Given the description of an element on the screen output the (x, y) to click on. 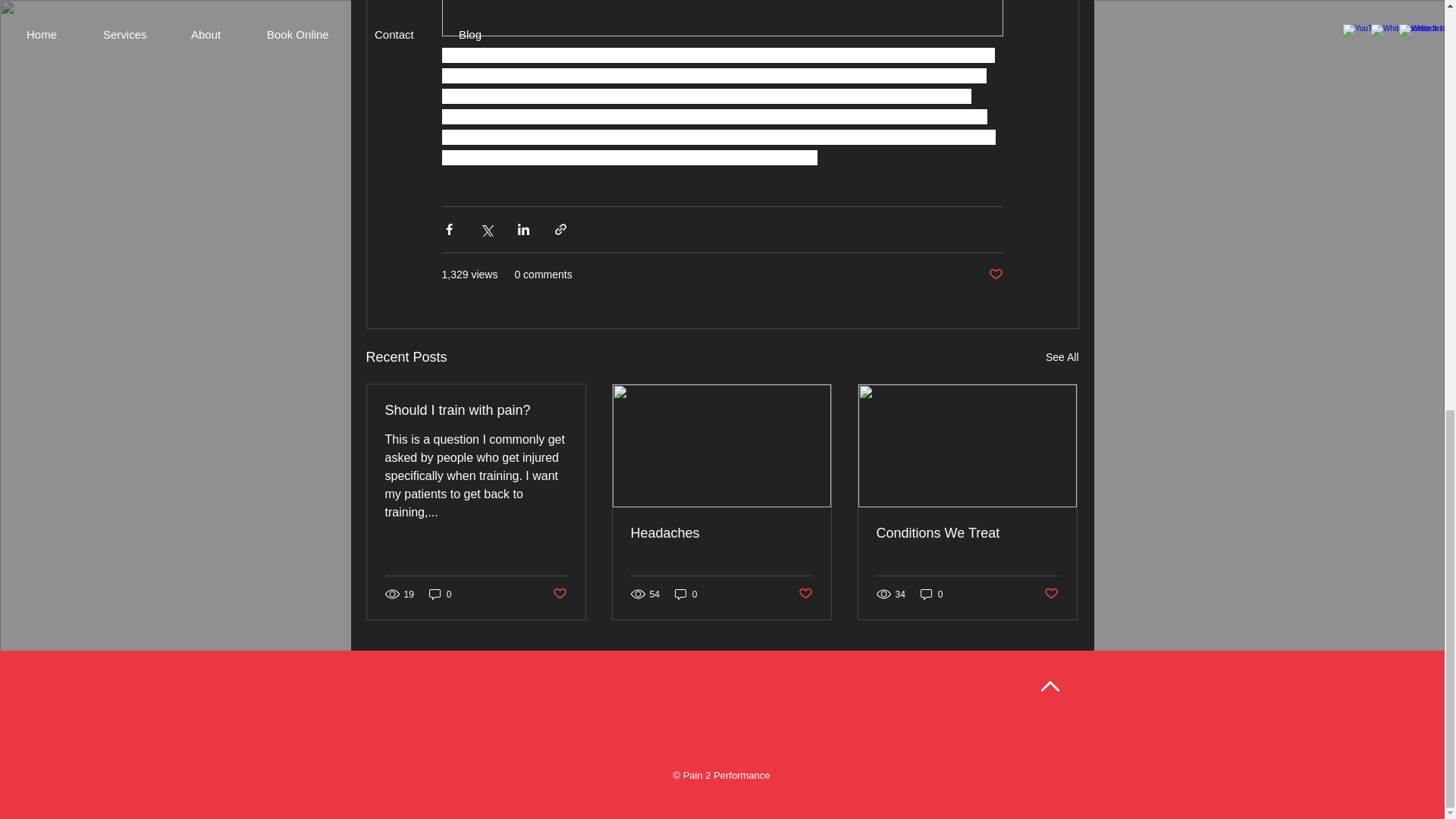
See All (1061, 357)
Headaches (721, 533)
0 (931, 594)
Post not marked as liked (804, 593)
Conditions We Treat (967, 533)
0 (685, 594)
Should I train with pain? (476, 410)
Post not marked as liked (1050, 593)
Post not marked as liked (995, 274)
0 (440, 594)
